Given the description of an element on the screen output the (x, y) to click on. 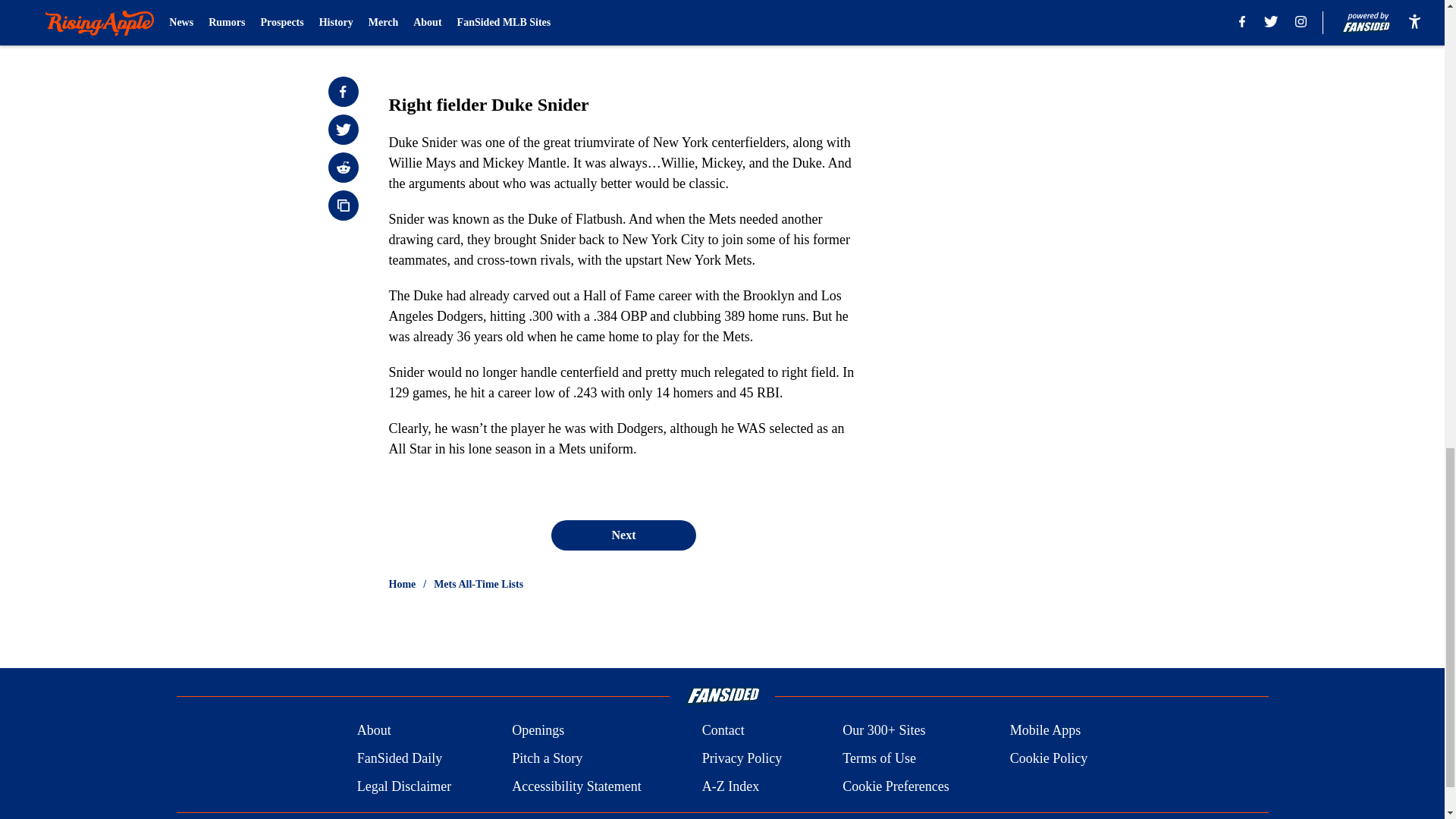
Accessibility Statement (576, 786)
About (373, 730)
Pitch a Story (547, 758)
Legal Disclaimer (403, 786)
Privacy Policy (742, 758)
Mets All-Time Lists (477, 584)
Cookie Policy (1048, 758)
FanSided Daily (399, 758)
Contact (722, 730)
Home (401, 584)
Terms of Use (879, 758)
A-Z Index (729, 786)
Mobile Apps (1045, 730)
Next (622, 535)
Openings (538, 730)
